Given the description of an element on the screen output the (x, y) to click on. 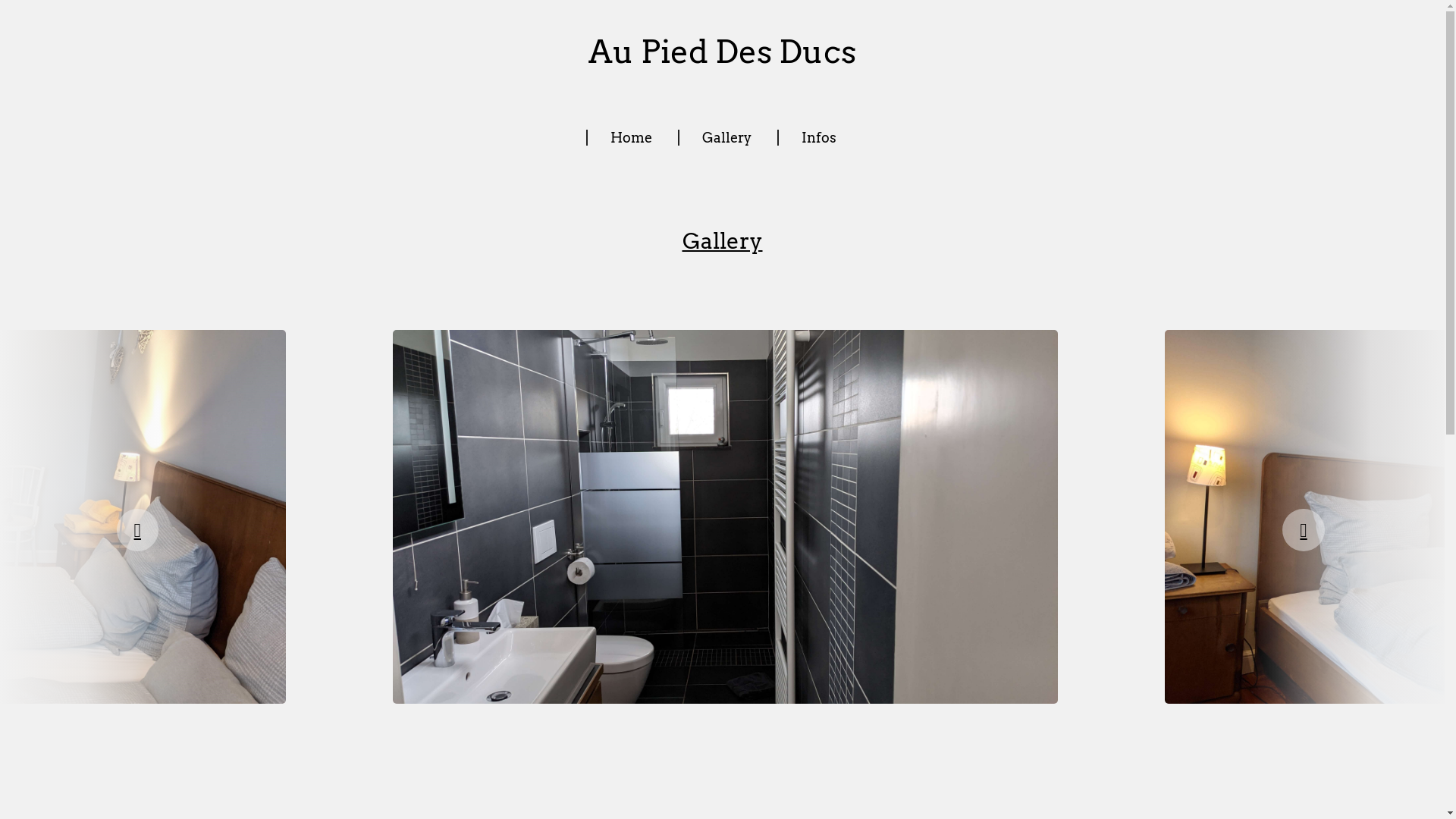
Gallery Element type: text (726, 137)
Home Element type: text (630, 137)
Infos Element type: text (817, 137)
